Given the description of an element on the screen output the (x, y) to click on. 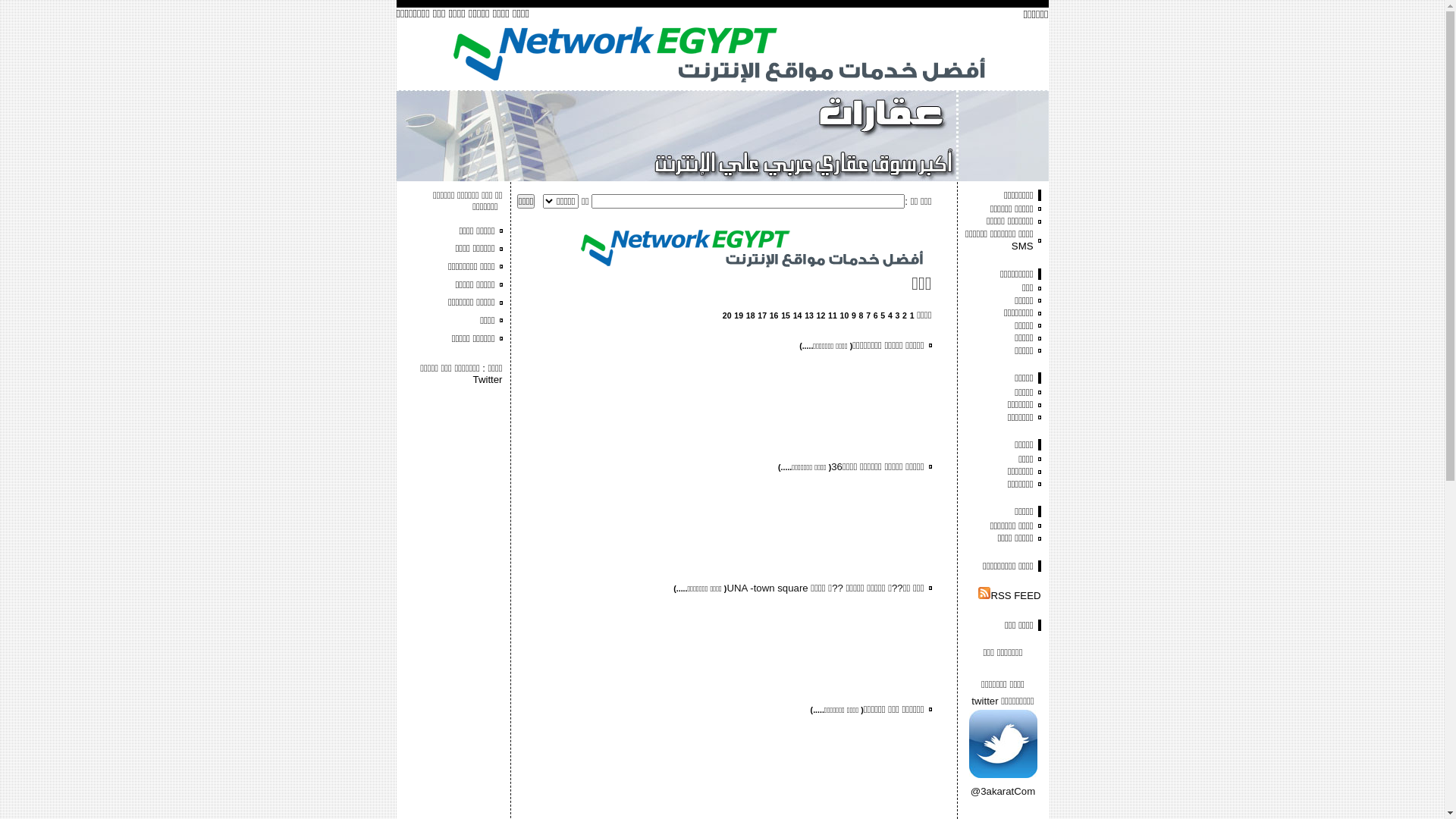
12 Element type: text (820, 315)
13 Element type: text (808, 315)
Advertisement Element type: hover (722, 527)
Advertisement Element type: hover (722, 648)
Twitter Element type: text (487, 379)
Advertisement Element type: hover (753, 326)
5 Element type: text (882, 315)
9 Element type: text (853, 315)
10 Element type: text (844, 315)
Advertisement Element type: hover (456, 430)
14 Element type: text (797, 315)
2 Element type: text (904, 315)
17 Element type: text (761, 315)
4 Element type: text (890, 315)
3 Element type: text (896, 315)
RSS FEED Element type: text (1009, 595)
11 Element type: text (832, 315)
Advertisement Element type: hover (722, 406)
7 Element type: text (868, 315)
8 Element type: text (861, 315)
19 Element type: text (738, 315)
6 Element type: text (875, 315)
1 Element type: text (912, 315)
20 Element type: text (726, 315)
15 Element type: text (785, 315)
16 Element type: text (773, 315)
18 Element type: text (750, 315)
